Given the description of an element on the screen output the (x, y) to click on. 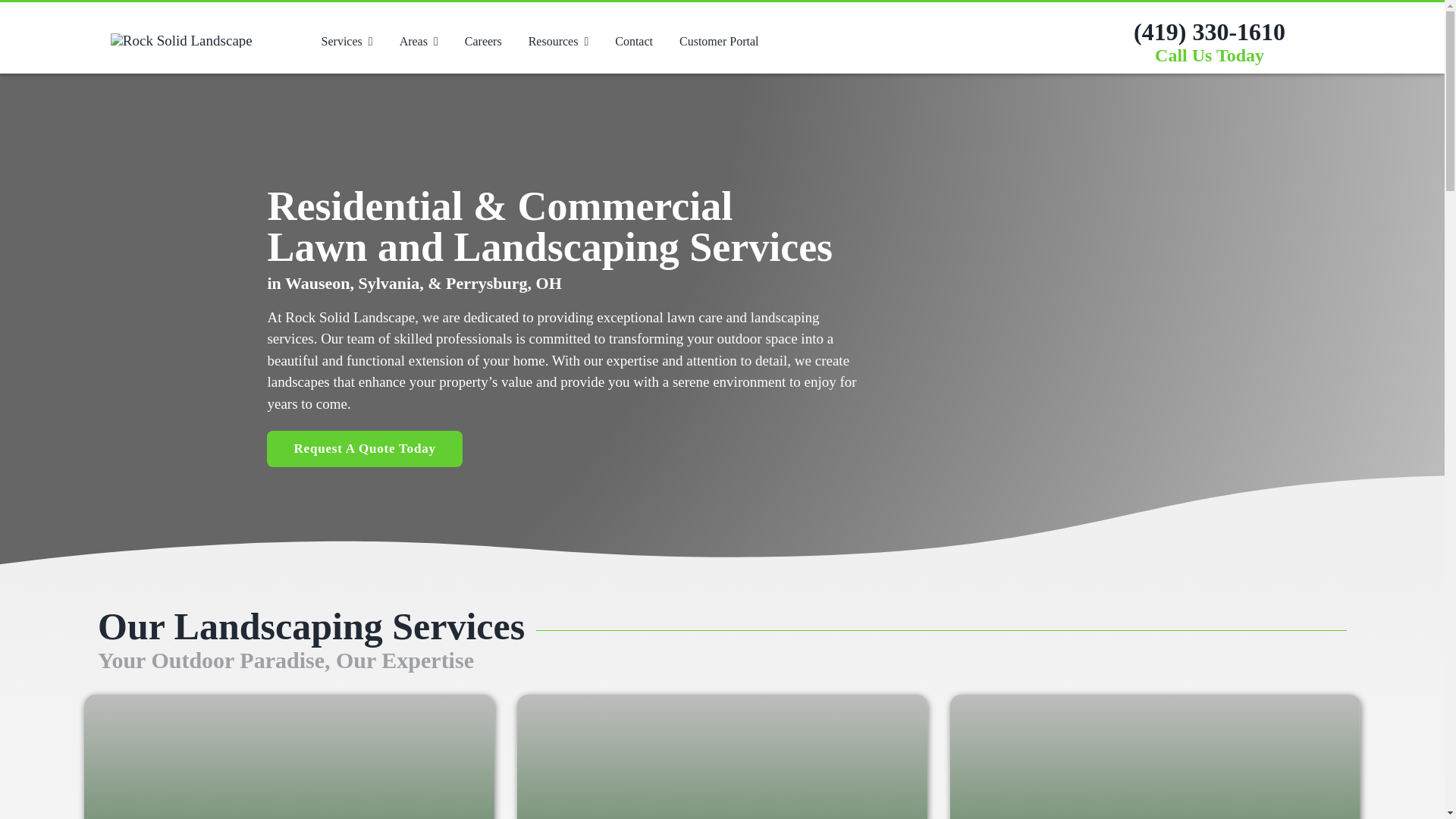
Careers (483, 40)
Areas (418, 40)
Services (347, 40)
